Given the description of an element on the screen output the (x, y) to click on. 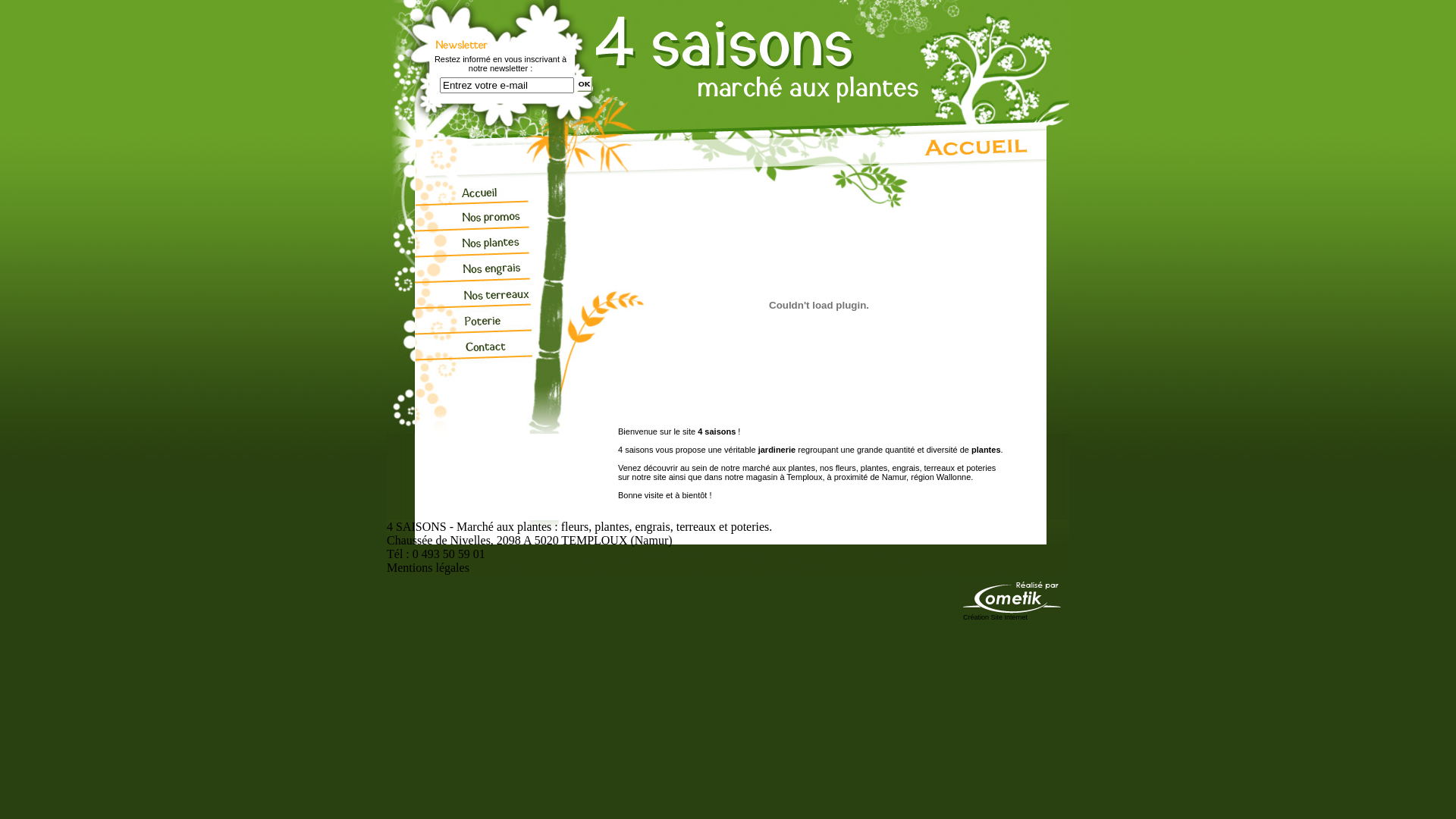
Advertisement Element type: hover (812, 514)
